Given the description of an element on the screen output the (x, y) to click on. 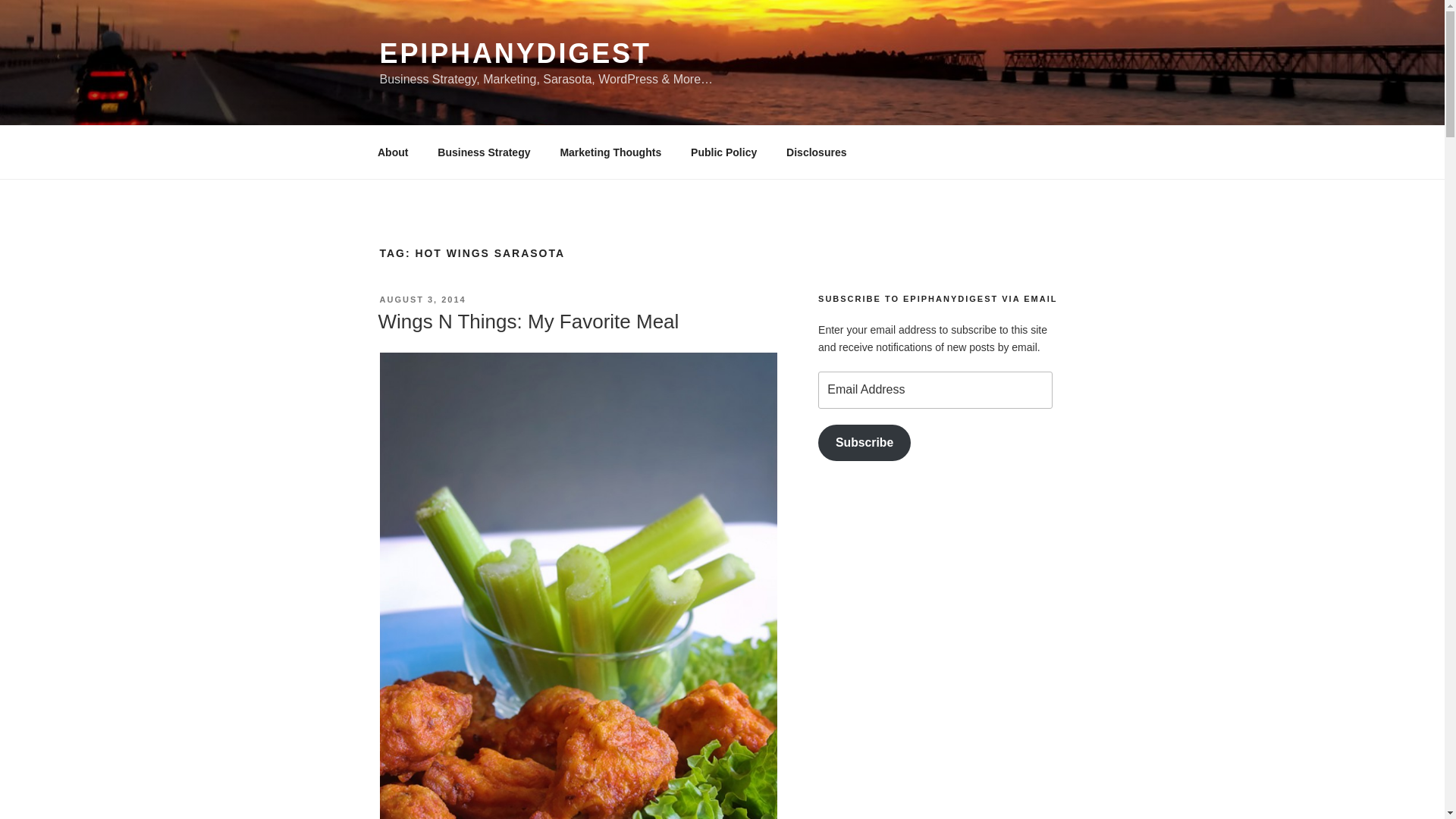
Wings N Things: My Favorite Meal (527, 321)
AUGUST 3, 2014 (421, 298)
Disclosures (816, 151)
Subscribe (864, 443)
Business Strategy (484, 151)
Marketing Thoughts (611, 151)
EPIPHANYDIGEST (514, 52)
Public Policy (724, 151)
About (392, 151)
